Given the description of an element on the screen output the (x, y) to click on. 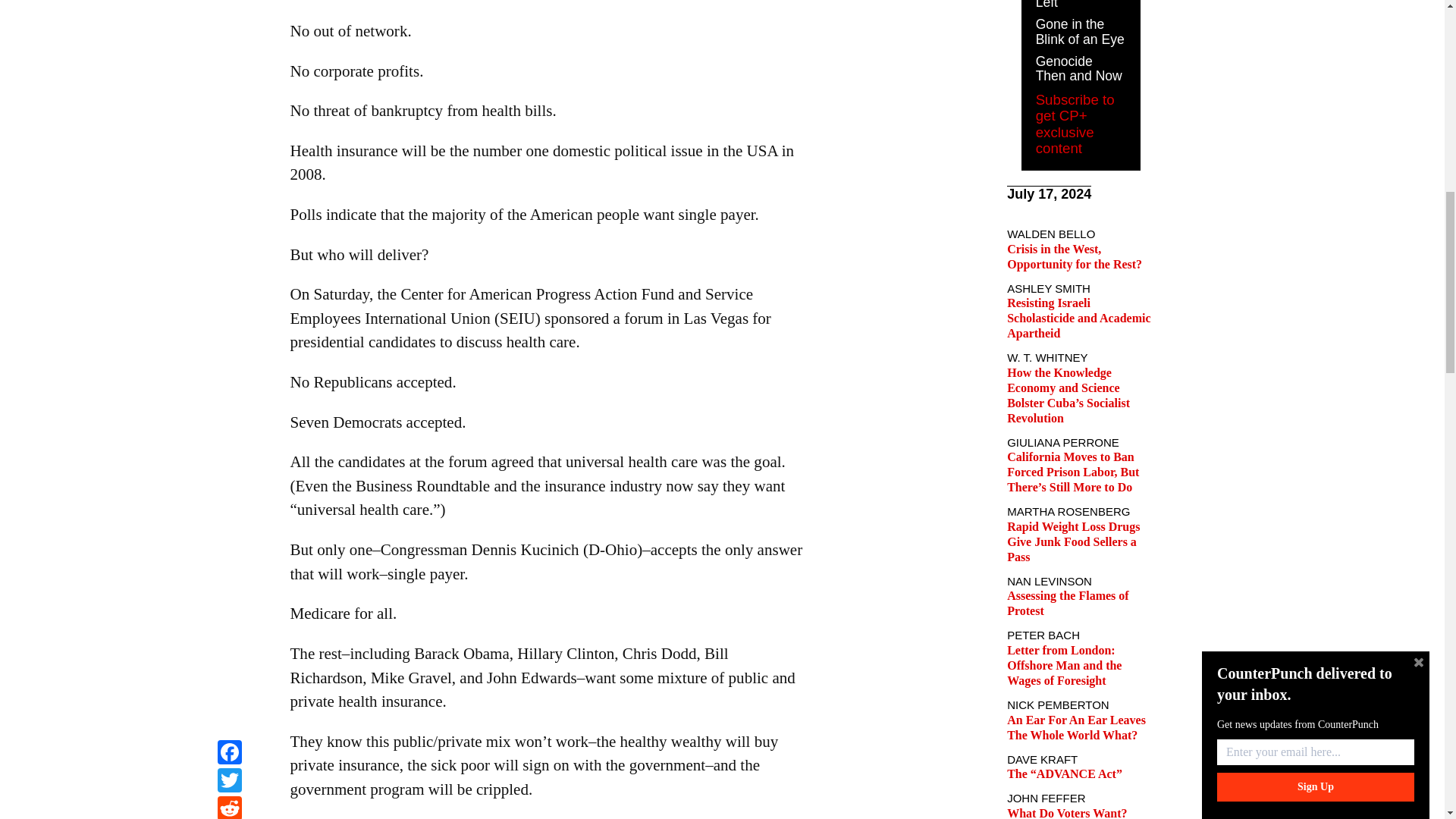
Email (229, 18)
Genocide Then and Now (1078, 69)
Email (229, 18)
The Molting of the Dirtbag Left (1077, 4)
Reddit (229, 2)
Resisting Israeli Scholasticide and Academic Apartheid (1078, 317)
Crisis in the West, Opportunity for the Rest? (1074, 256)
Gone in the Blink of an Eye (1079, 31)
Reddit (229, 2)
